Given the description of an element on the screen output the (x, y) to click on. 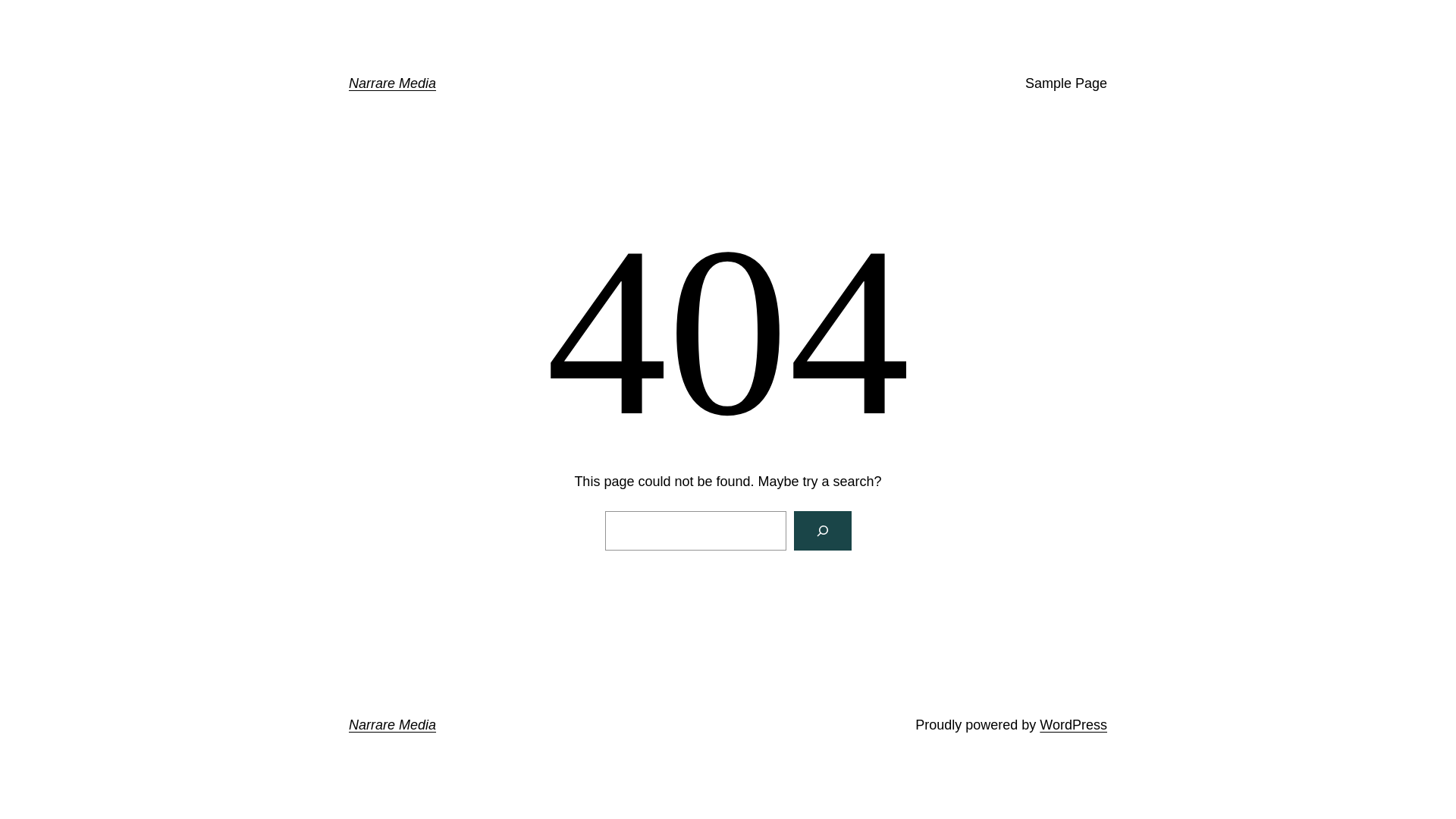
WordPress Element type: text (1073, 724)
Sample Page Element type: text (1066, 83)
Narrare Media Element type: text (392, 83)
Narrare Media Element type: text (392, 724)
